Given the description of an element on the screen output the (x, y) to click on. 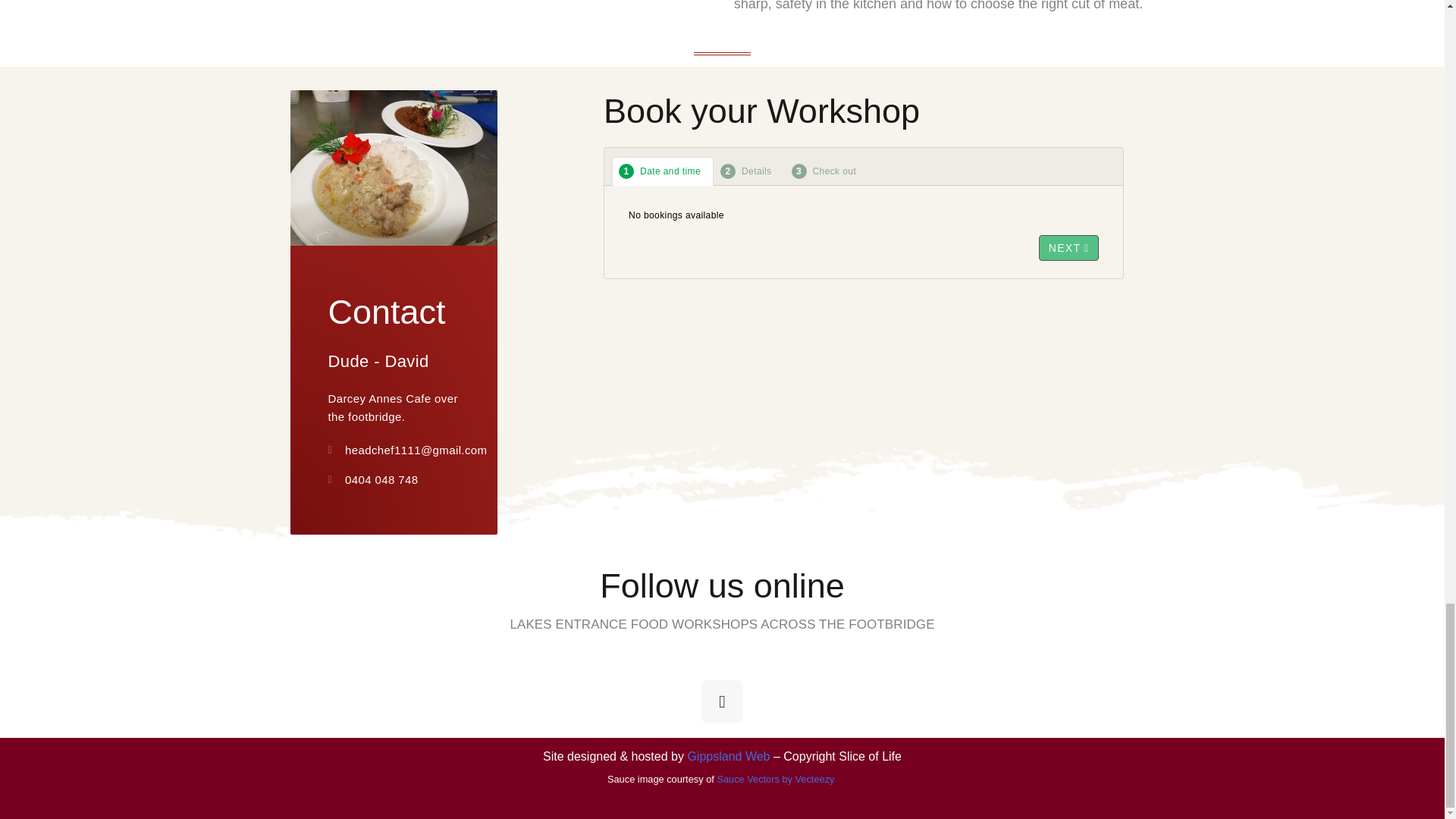
NEXT (1069, 248)
Gippsland Web (728, 756)
Date and time (662, 171)
Details (748, 171)
0404 048 748 (393, 479)
Sauce Vectors by Vecteezy (775, 778)
Check out (826, 171)
